Given the description of an element on the screen output the (x, y) to click on. 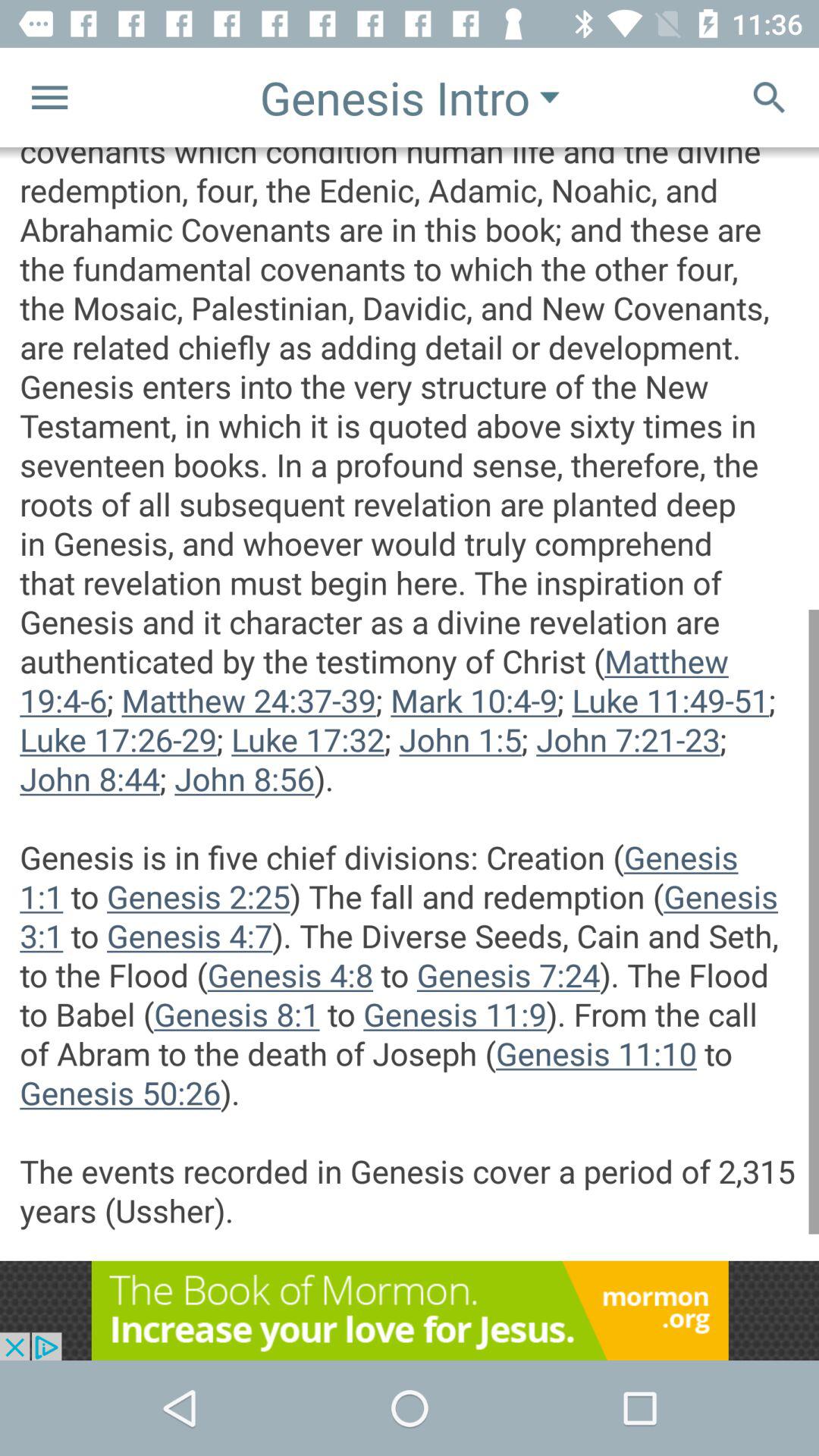
go to the advertised site (409, 1310)
